Given the description of an element on the screen output the (x, y) to click on. 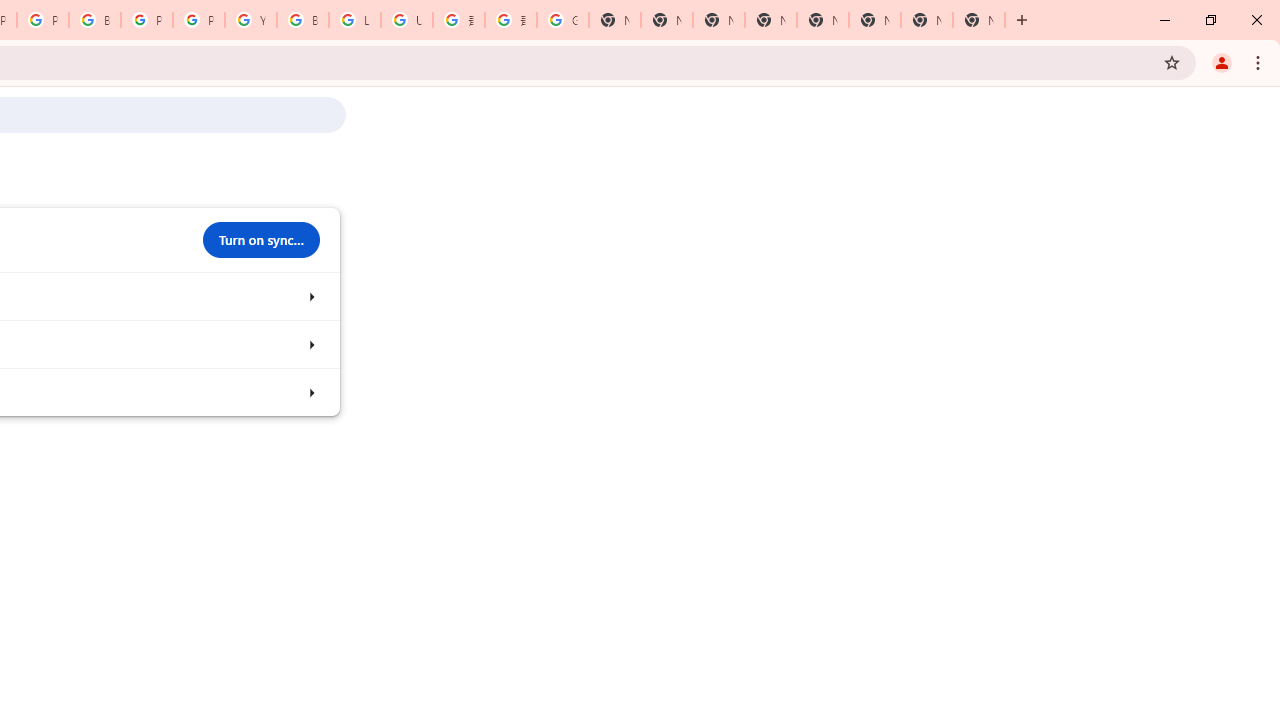
New Tab (874, 20)
New Tab (978, 20)
YouTube (250, 20)
Sync and Google services (310, 296)
Import bookmarks and settings (310, 391)
